Given the description of an element on the screen output the (x, y) to click on. 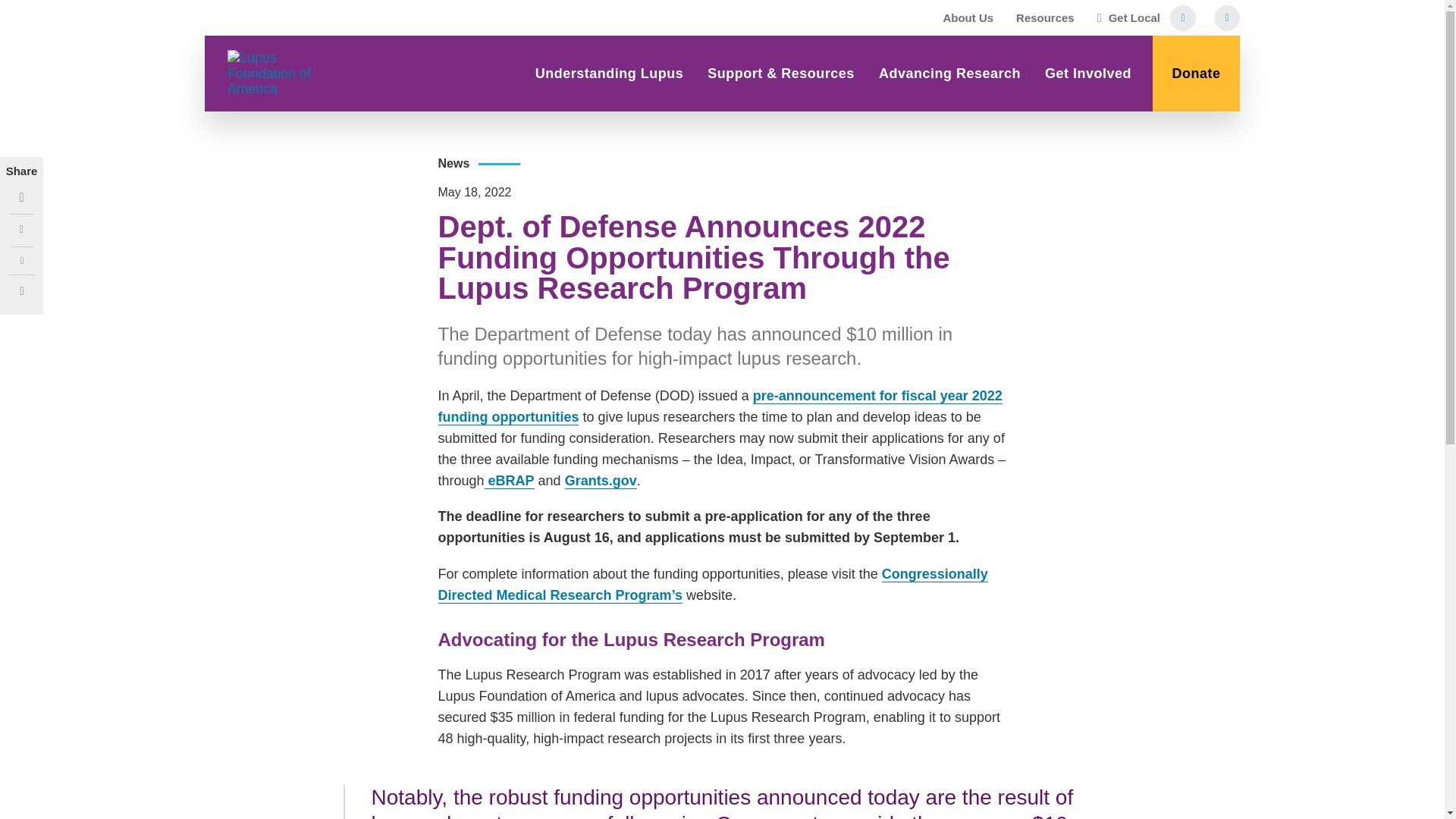
Lupus Foundation of America (282, 73)
See services offered by the Lupus Foundation of America. (780, 73)
